Given the description of an element on the screen output the (x, y) to click on. 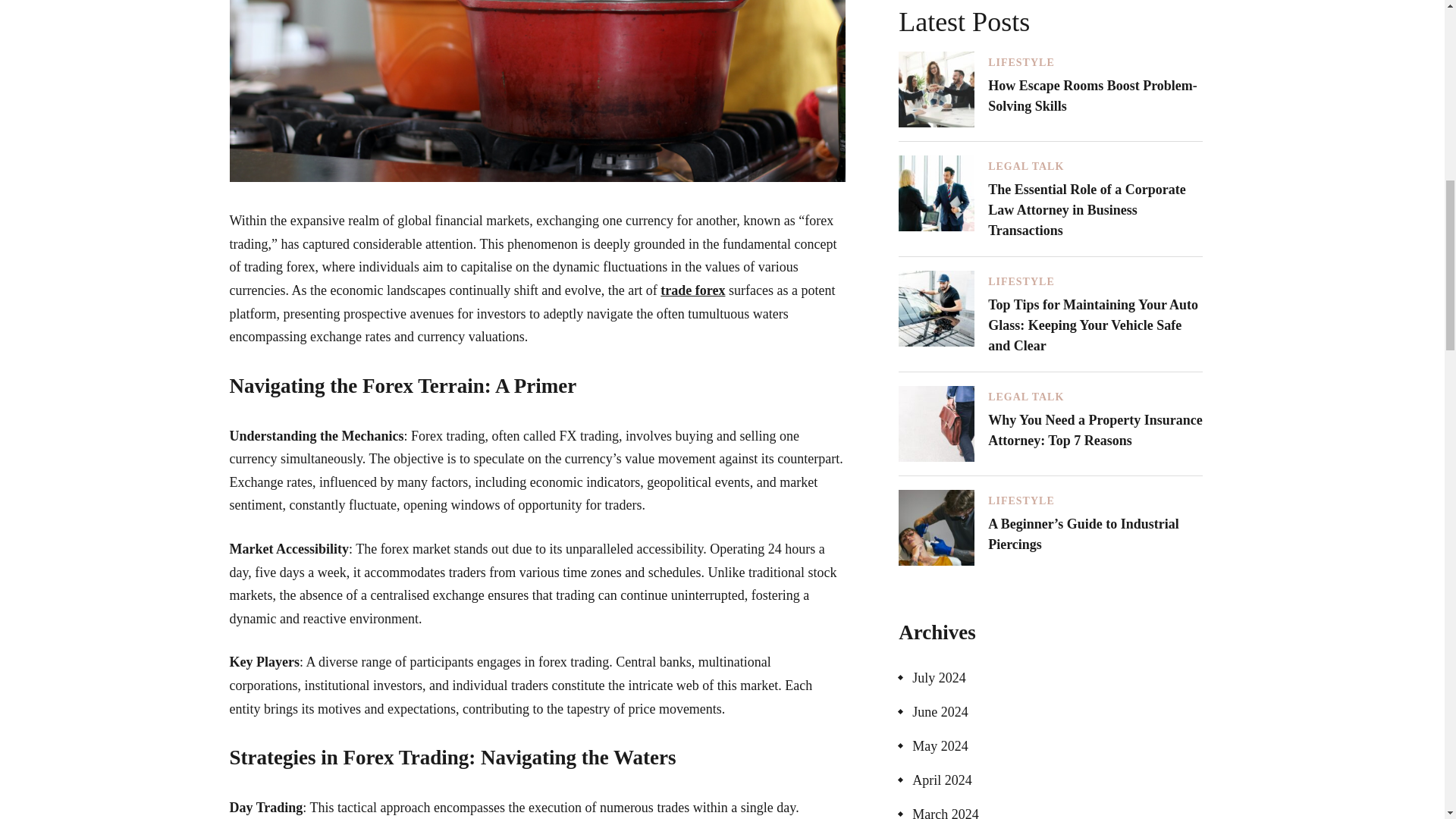
trade forex (693, 290)
